Given the description of an element on the screen output the (x, y) to click on. 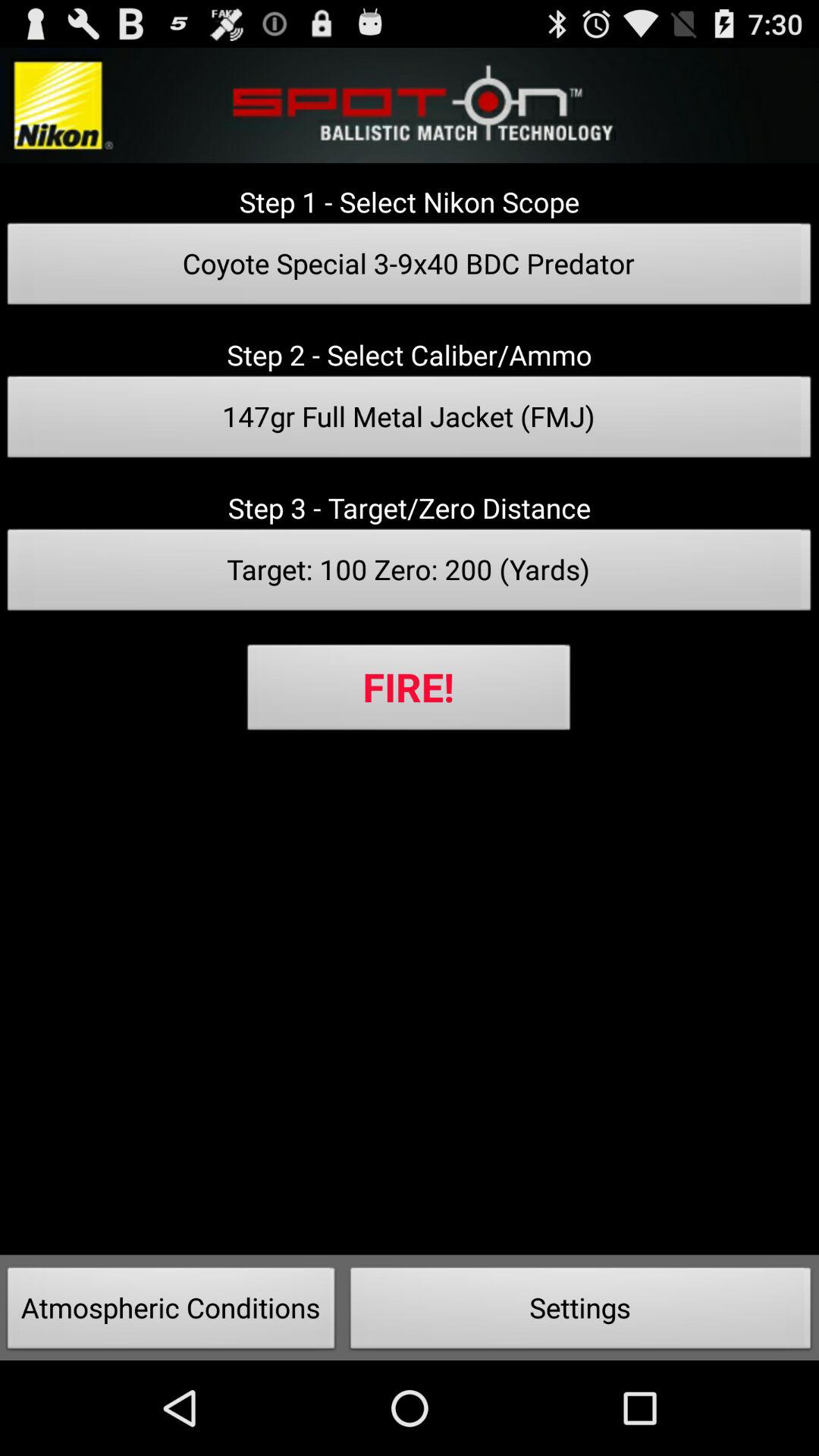
flip until the target 100 zero button (409, 574)
